Given the description of an element on the screen output the (x, y) to click on. 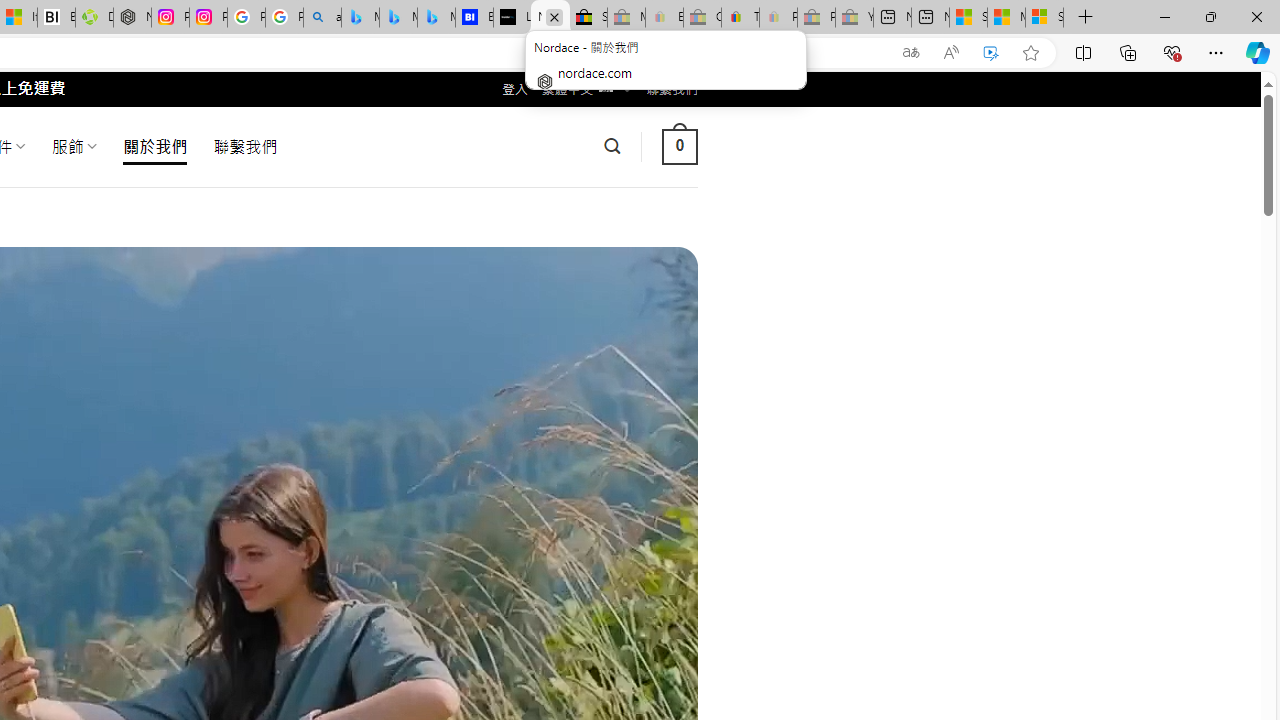
Descarga Driver Updater (93, 17)
Press Room - eBay Inc. - Sleeping (815, 17)
Enhance video (991, 53)
